Given the description of an element on the screen output the (x, y) to click on. 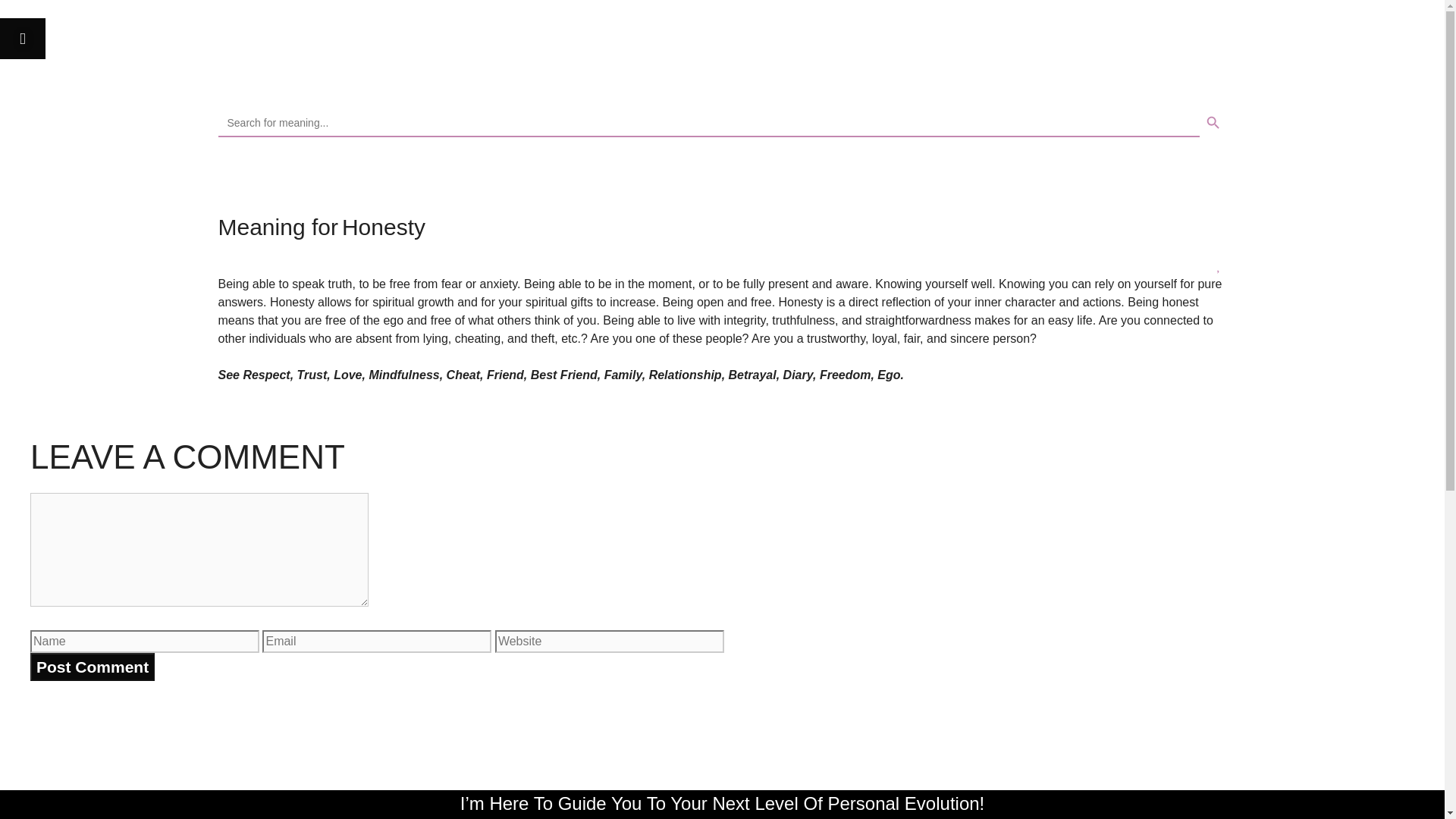
Post Comment (92, 666)
SEARCH BUTTON (1213, 123)
Post Comment (92, 666)
